Given the description of an element on the screen output the (x, y) to click on. 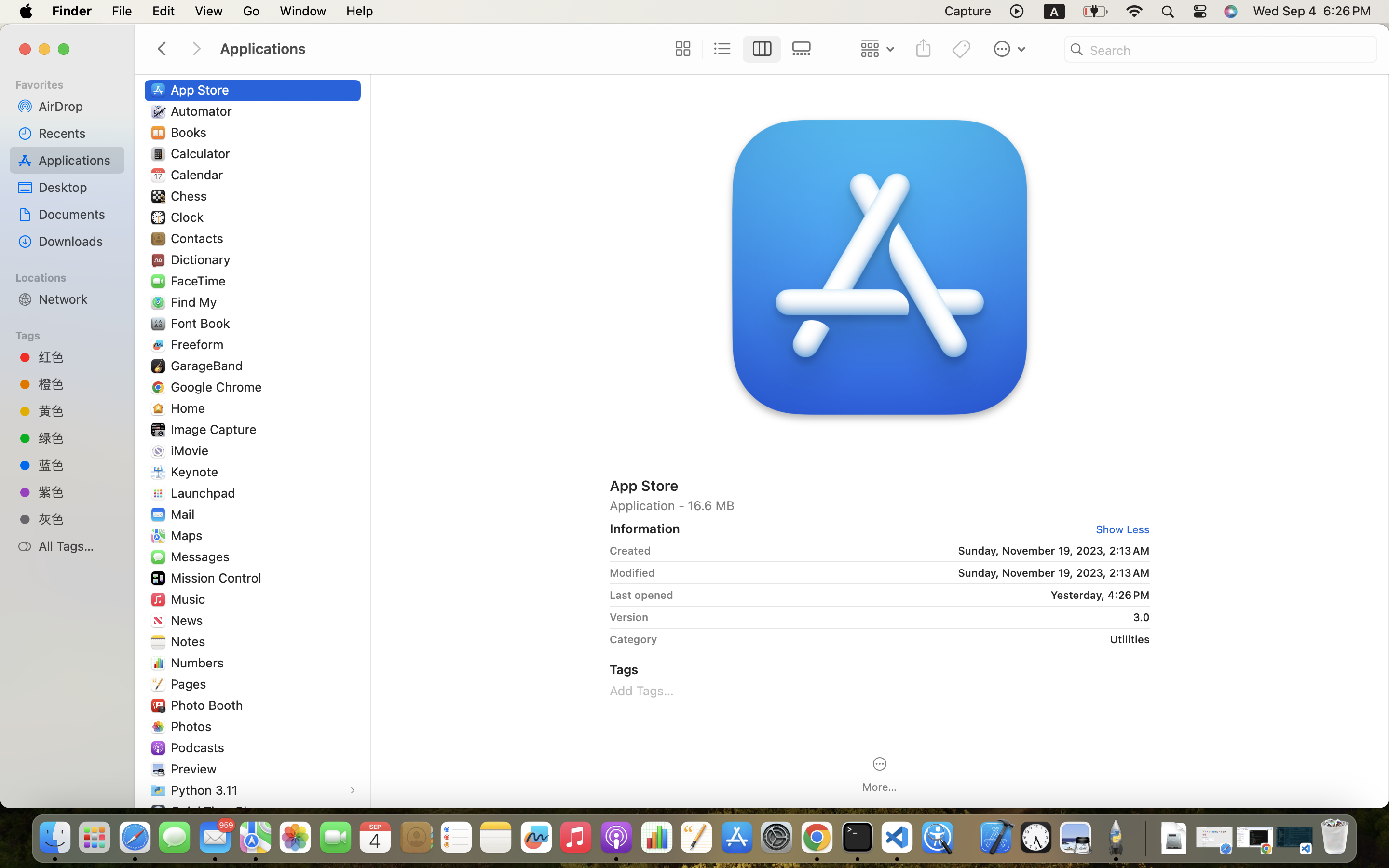
FaceTime Element type: AXTextField (200, 280)
Contacts Element type: AXTextField (198, 237)
Category Element type: AXStaticText (632, 639)
0.4285714328289032 Element type: AXDockItem (965, 837)
Recents Element type: AXStaticText (77, 132)
